Given the description of an element on the screen output the (x, y) to click on. 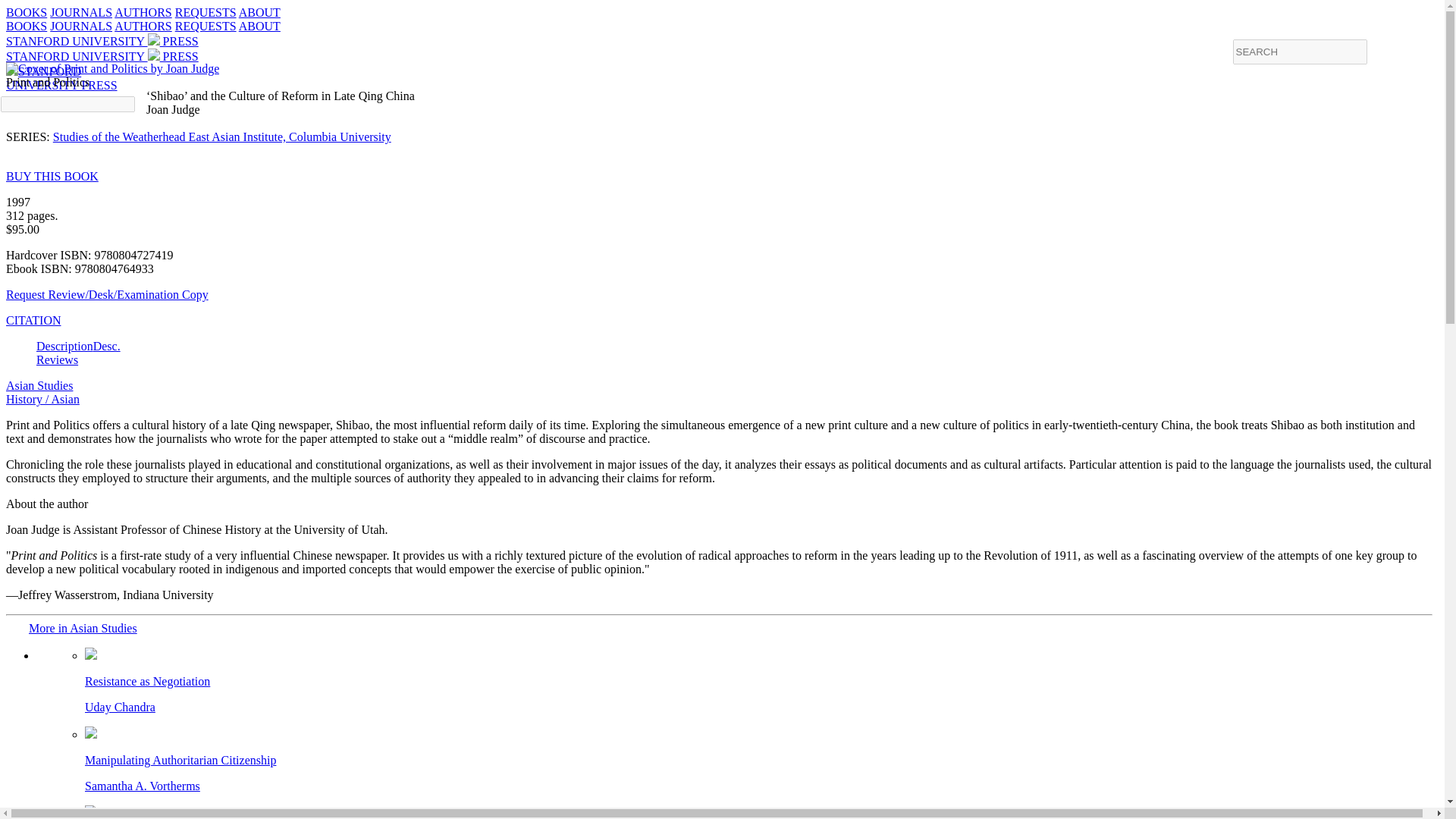
AUTHORS (752, 681)
BOOKS (259, 25)
JOURNALS (143, 25)
Asian Studies (25, 25)
STANFORD UNIVERSITY PRESS (61, 78)
BOOKS (80, 25)
DescriptionDesc. (38, 385)
ABOUT (101, 56)
More in Asian Studies (25, 11)
Reviews (78, 345)
